Given the description of an element on the screen output the (x, y) to click on. 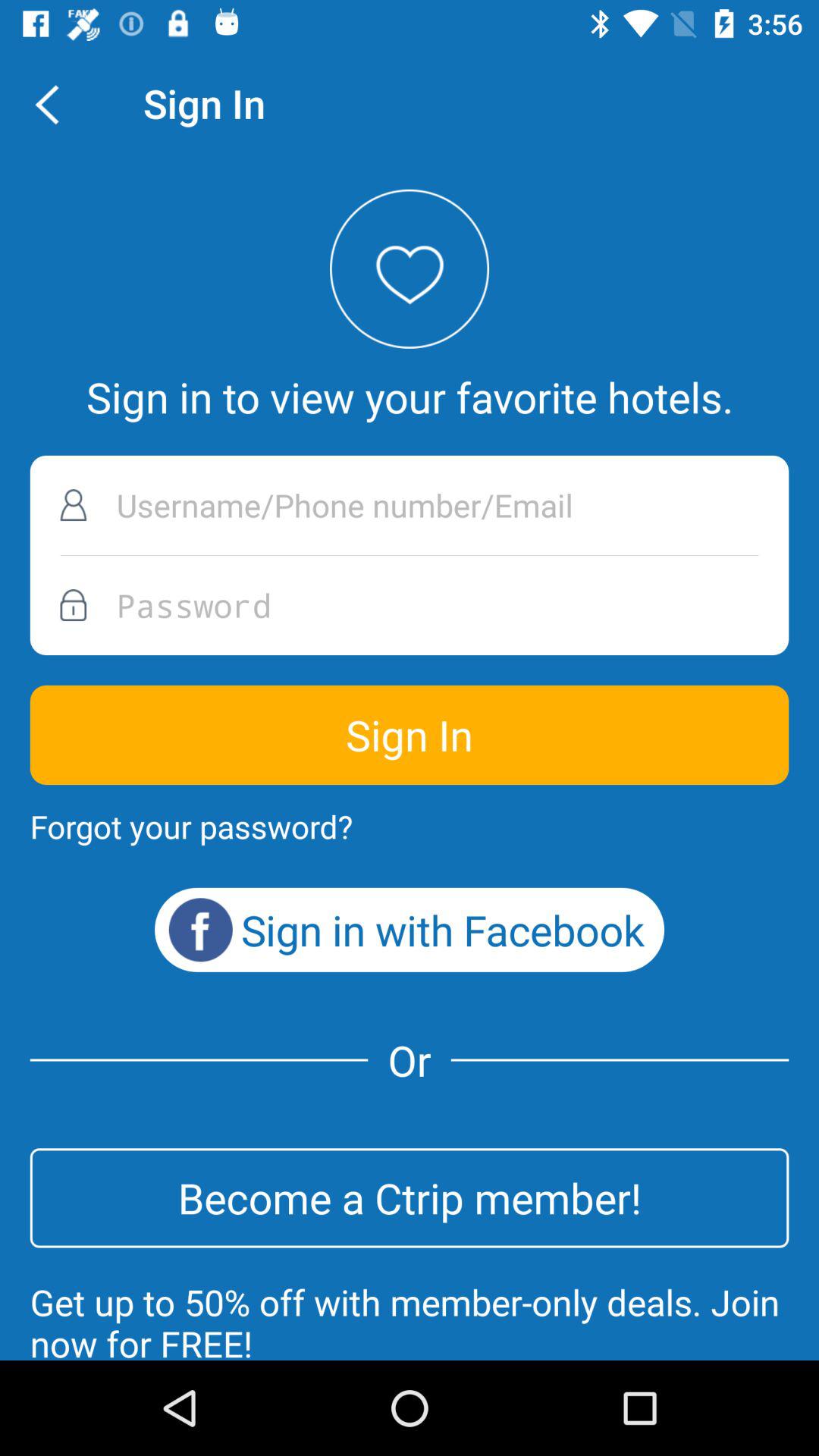
enter username phone number or email address (409, 505)
